Given the description of an element on the screen output the (x, y) to click on. 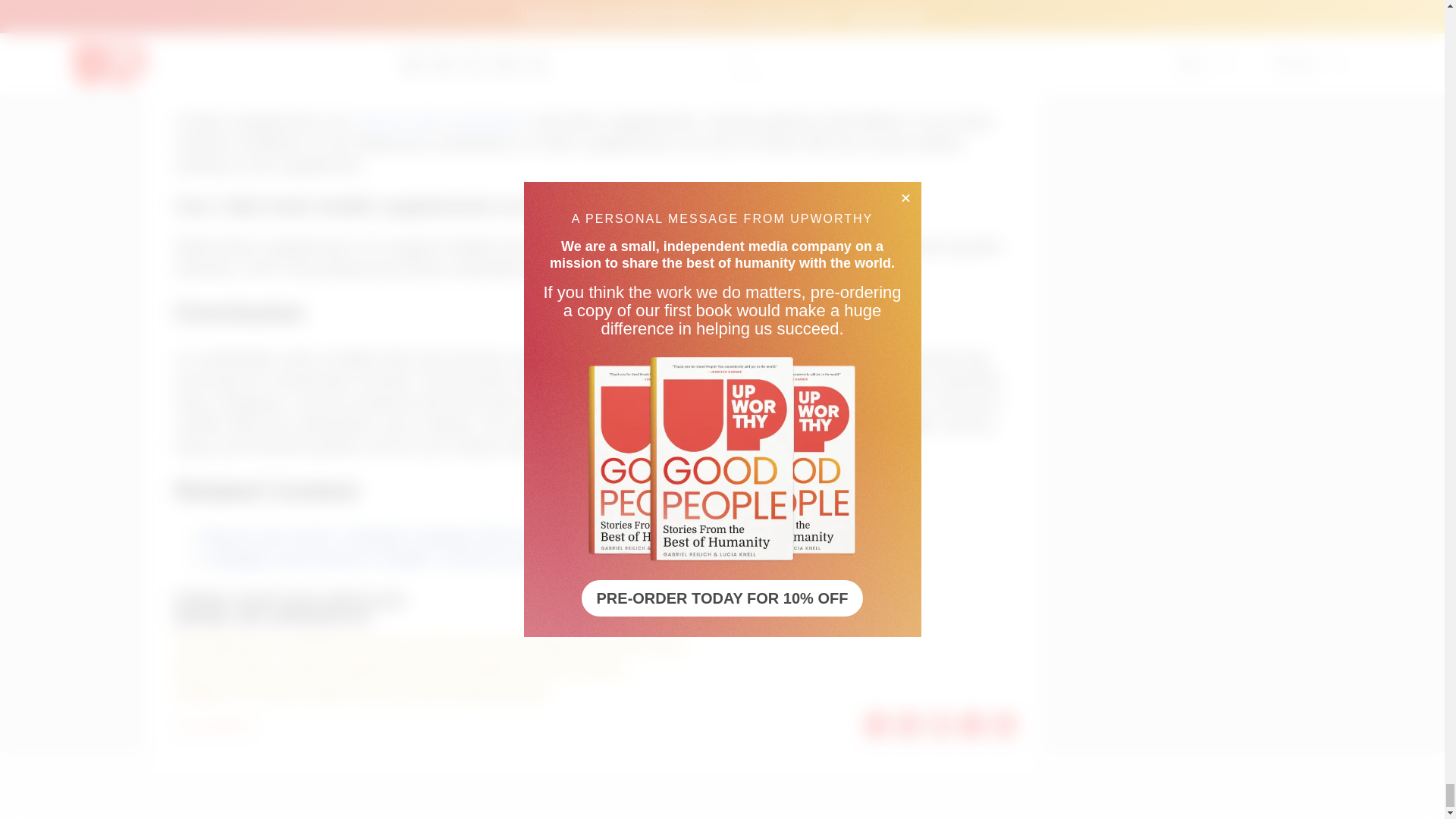
Copy this link to clipboard (1003, 724)
